Given the description of an element on the screen output the (x, y) to click on. 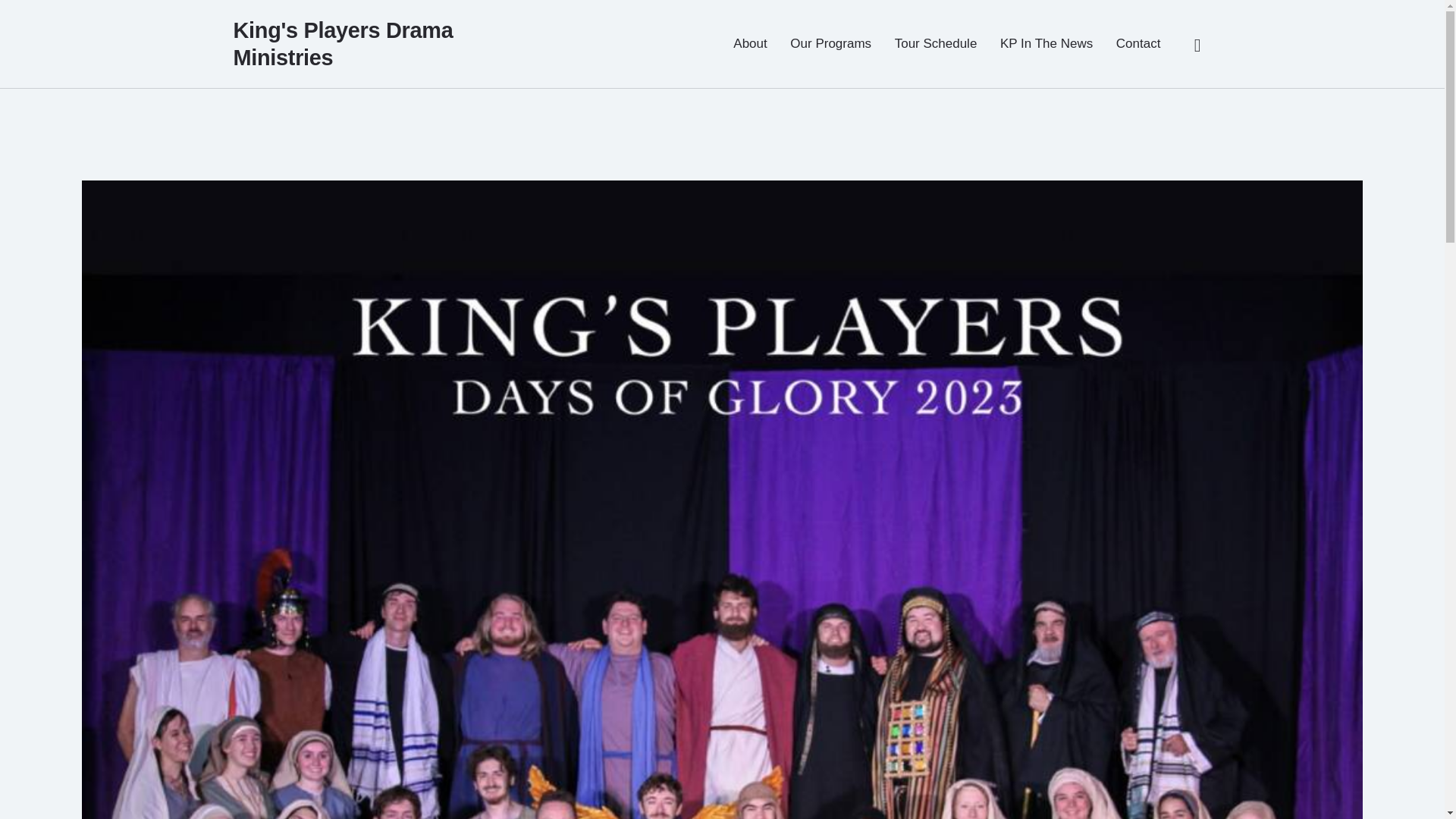
Tour Schedule (935, 43)
King's Players Drama Ministries (346, 43)
About (750, 43)
Contact (1137, 43)
Our Programs (830, 43)
KP In The News (1046, 43)
